Given the description of an element on the screen output the (x, y) to click on. 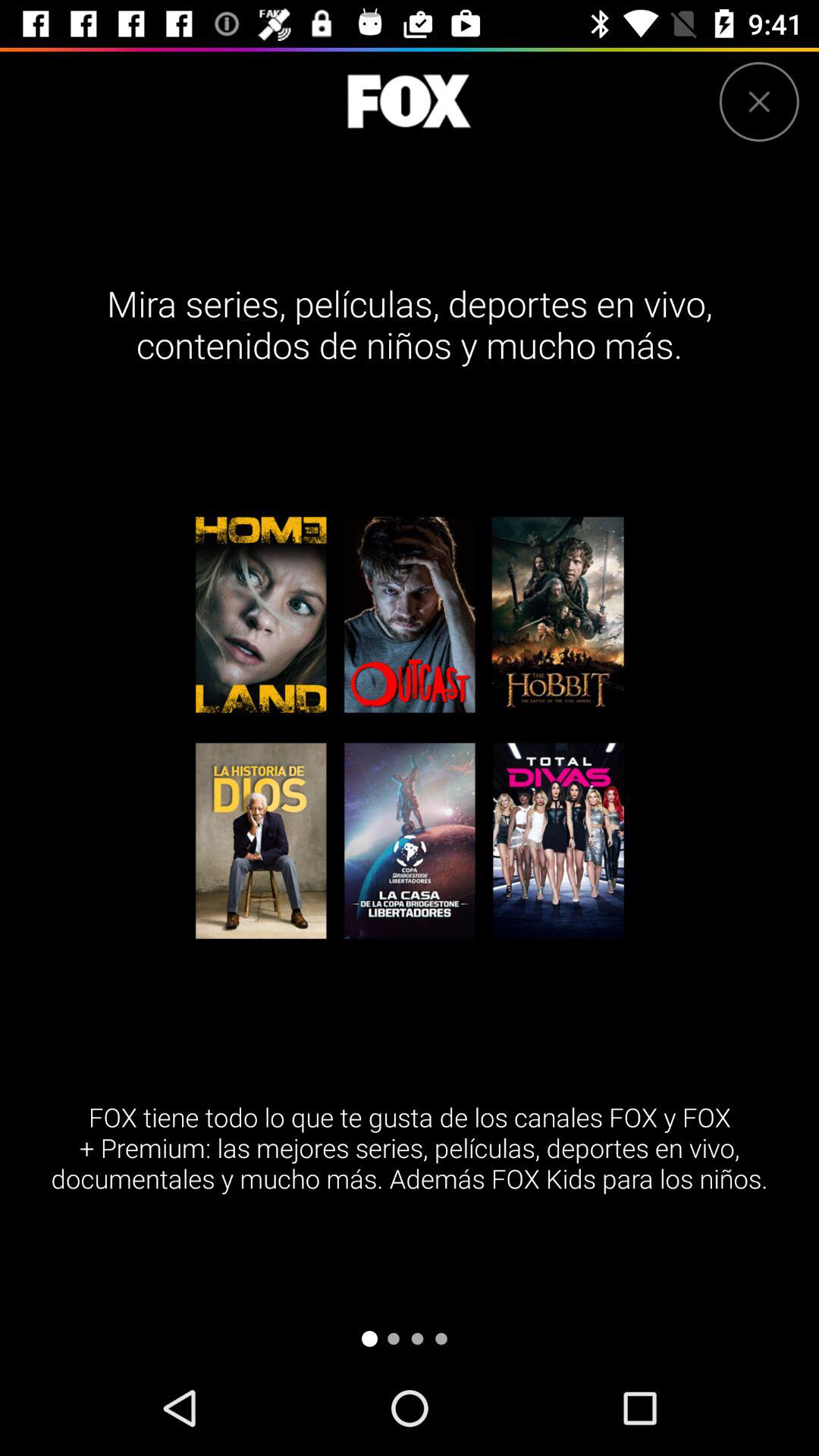
close page (759, 101)
